Given the description of an element on the screen output the (x, y) to click on. 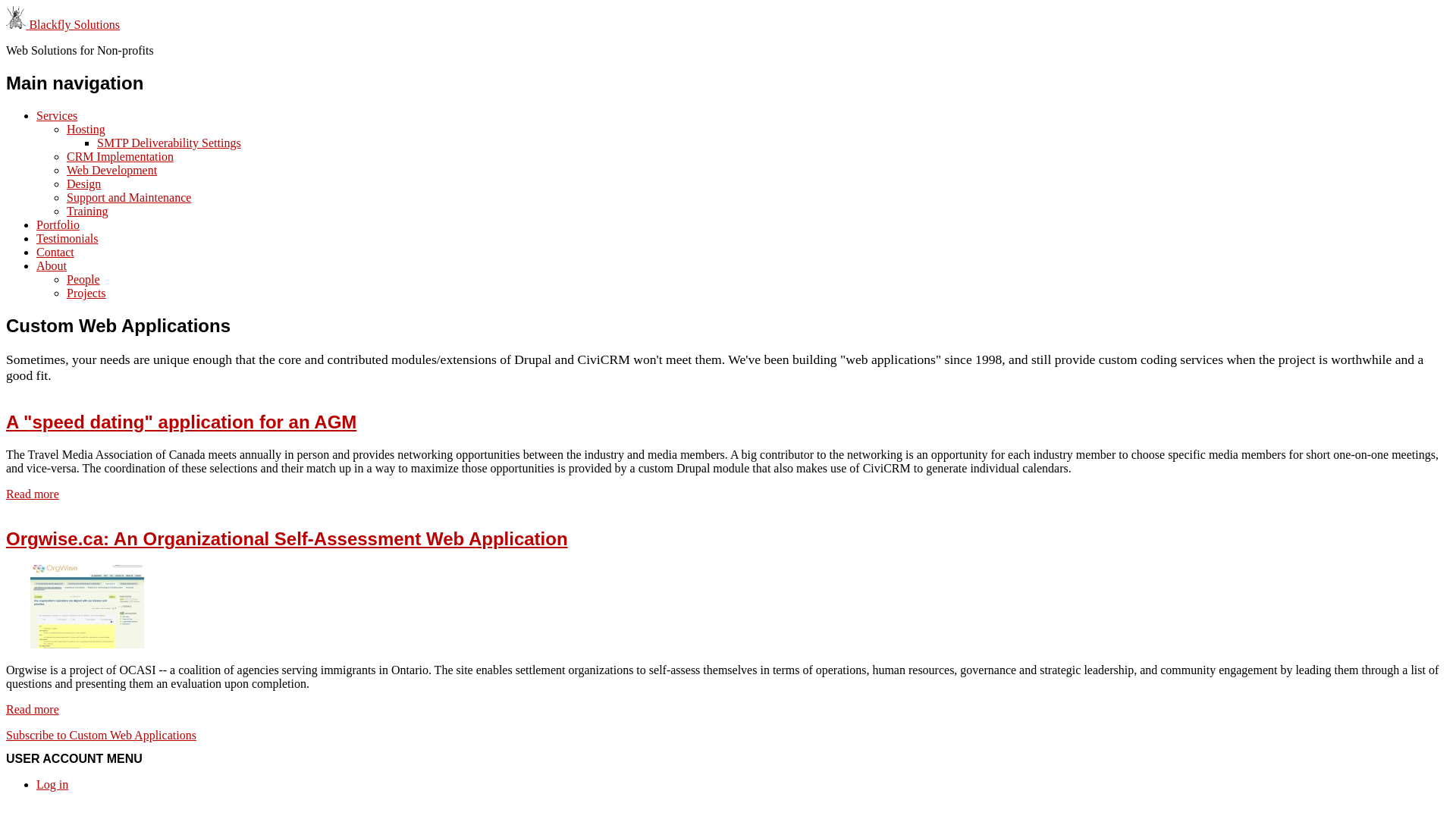
CRM Implementation Element type: text (119, 156)
People Element type: text (83, 279)
Support and Maintenance Element type: text (128, 197)
Subscribe to Custom Web Applications Element type: text (101, 734)
Blackfly Solutions Element type: text (73, 24)
Testimonials Element type: text (67, 238)
Home Element type: hover (17, 24)
Web Development Element type: text (111, 169)
SMTP Deliverability Settings Element type: text (169, 142)
About Element type: text (51, 265)
Skip to main content Element type: text (6, 6)
Services Element type: text (56, 115)
Read more
about A "speed dating" application for an AGM Element type: text (32, 493)
Contact Element type: text (55, 251)
Hosting Element type: text (85, 128)
Design Element type: text (83, 183)
Portfolio Element type: text (57, 224)
A "speed dating" application for an AGM Element type: text (181, 421)
Log in Element type: text (52, 784)
Training Element type: text (87, 210)
Projects Element type: text (86, 292)
